Given the description of an element on the screen output the (x, y) to click on. 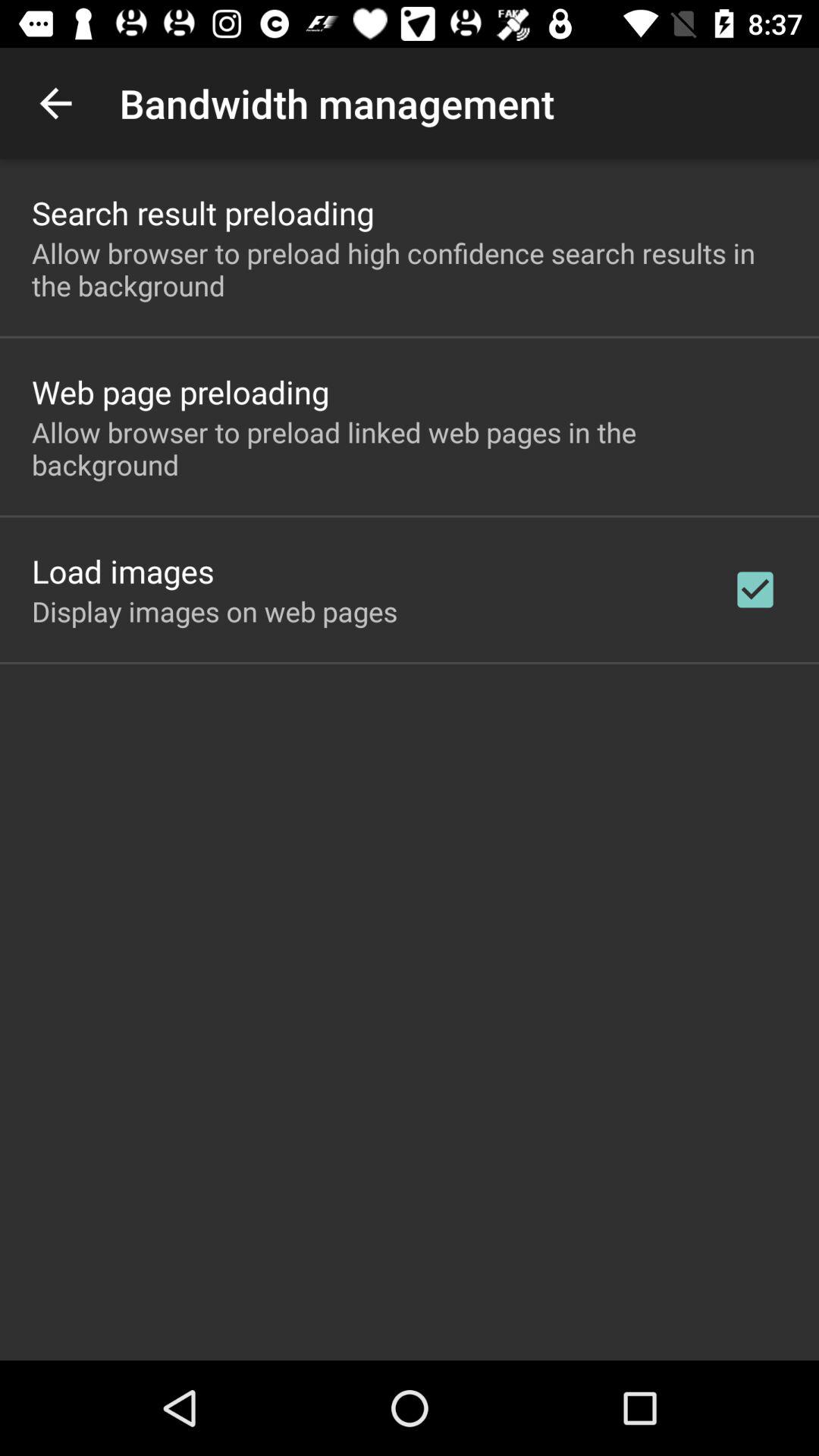
open the app to the left of the bandwidth management icon (55, 103)
